Given the description of an element on the screen output the (x, y) to click on. 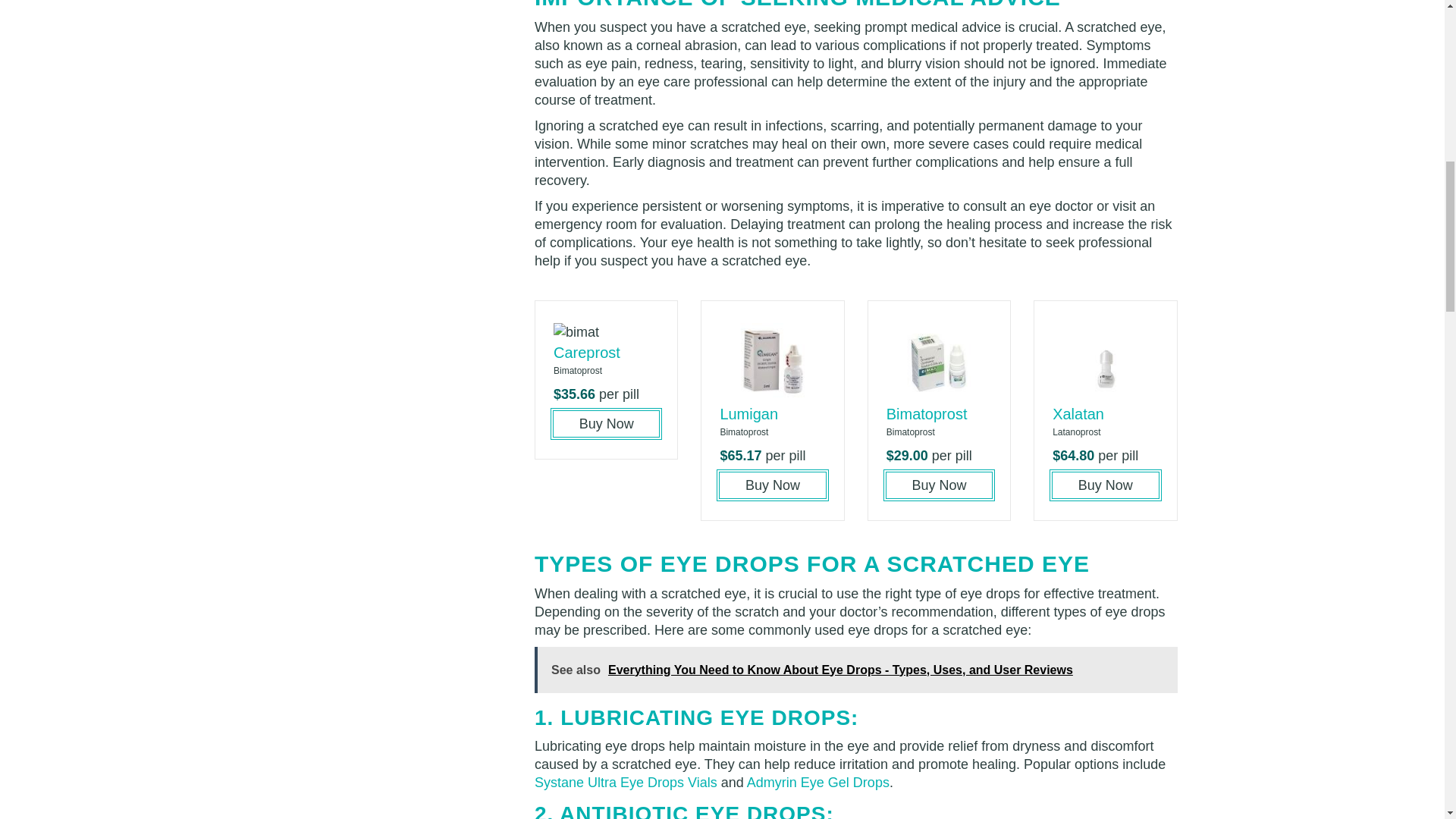
Careprost (586, 352)
Buy Now (1104, 484)
Systane Ultra Eye Drops Vials (625, 782)
Buy Now (938, 484)
Bimatoprost (927, 413)
Buy Now (606, 423)
Buy Now (772, 484)
Lumigan (748, 413)
Xalatan (1077, 413)
Admyrin Eye Gel Drops (817, 782)
